Given the description of an element on the screen output the (x, y) to click on. 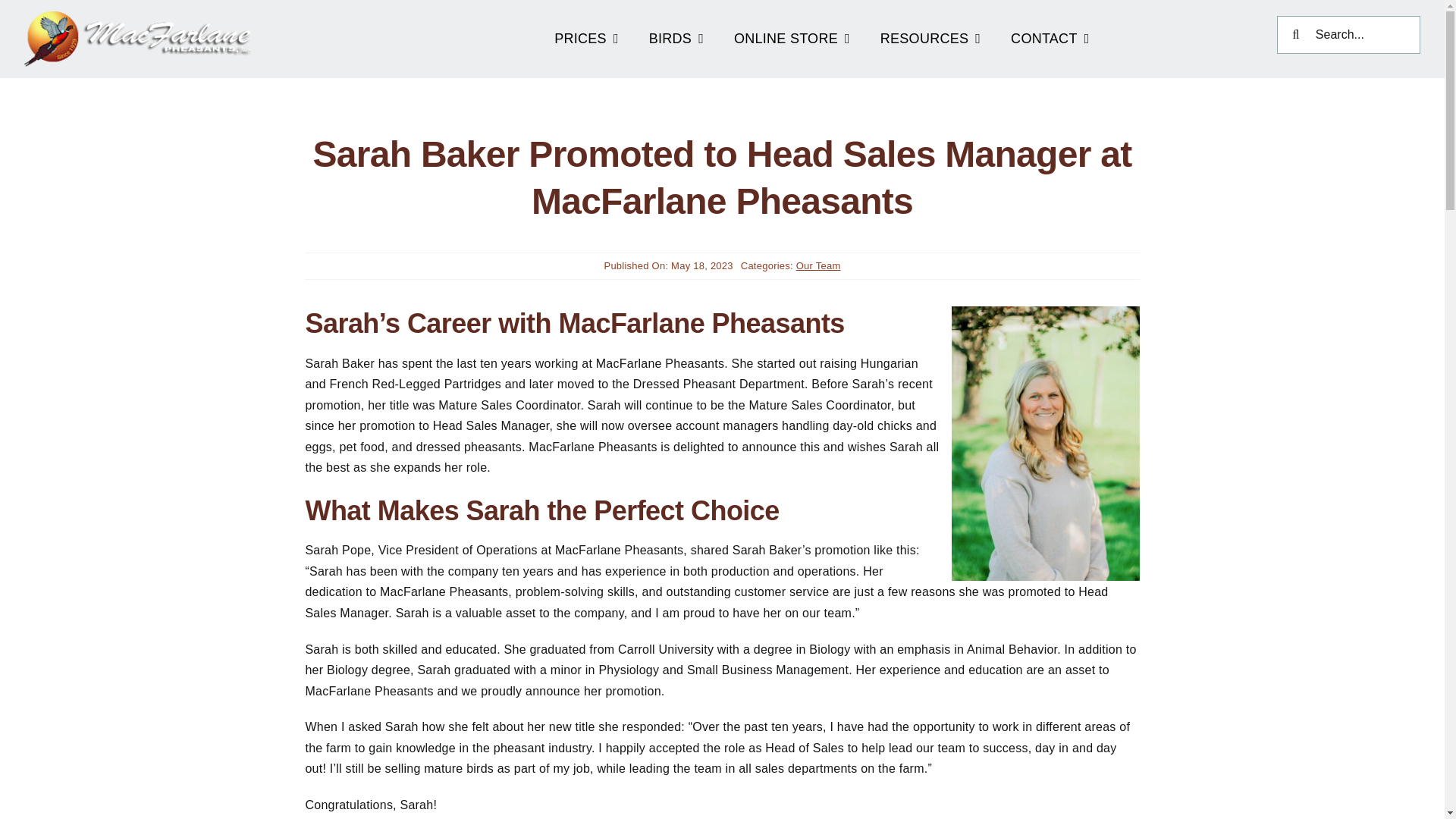
BIRDS (676, 34)
ONLINE STORE (791, 34)
PRICES (585, 34)
RESOURCES (929, 34)
